Given the description of an element on the screen output the (x, y) to click on. 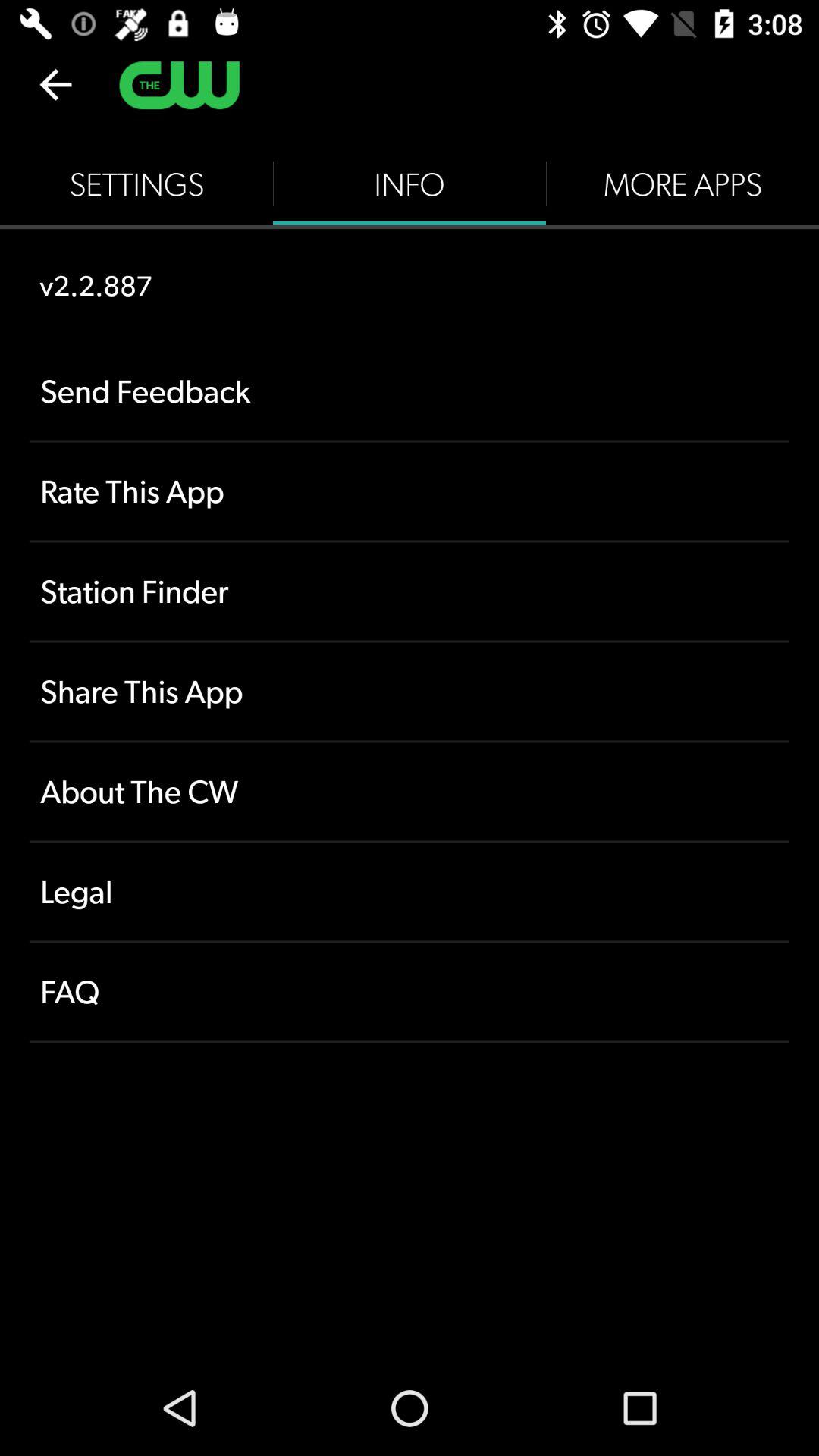
turn off station finder (409, 591)
